Given the description of an element on the screen output the (x, y) to click on. 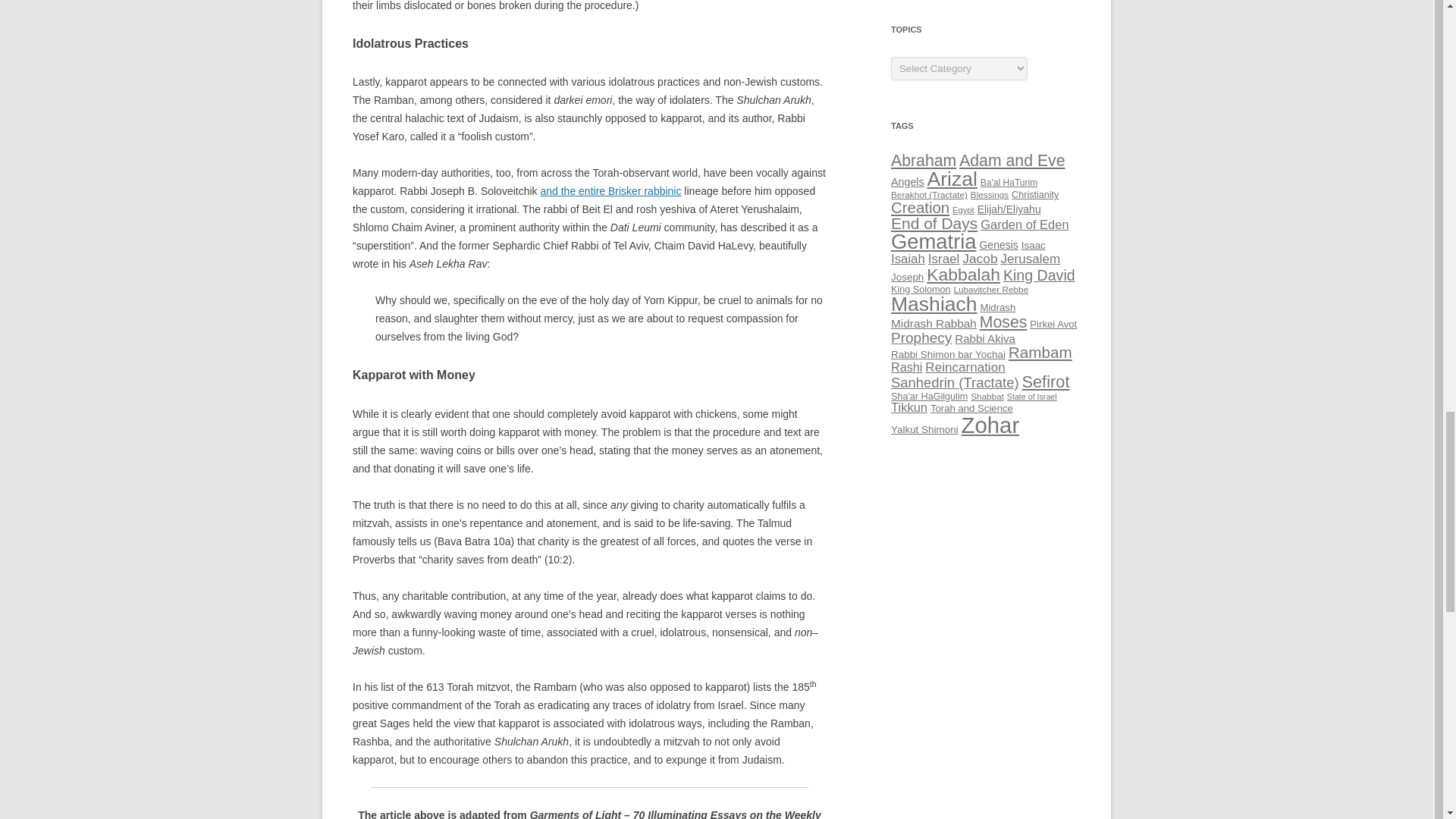
and the entire Brisker rabbinic (610, 191)
